Given the description of an element on the screen output the (x, y) to click on. 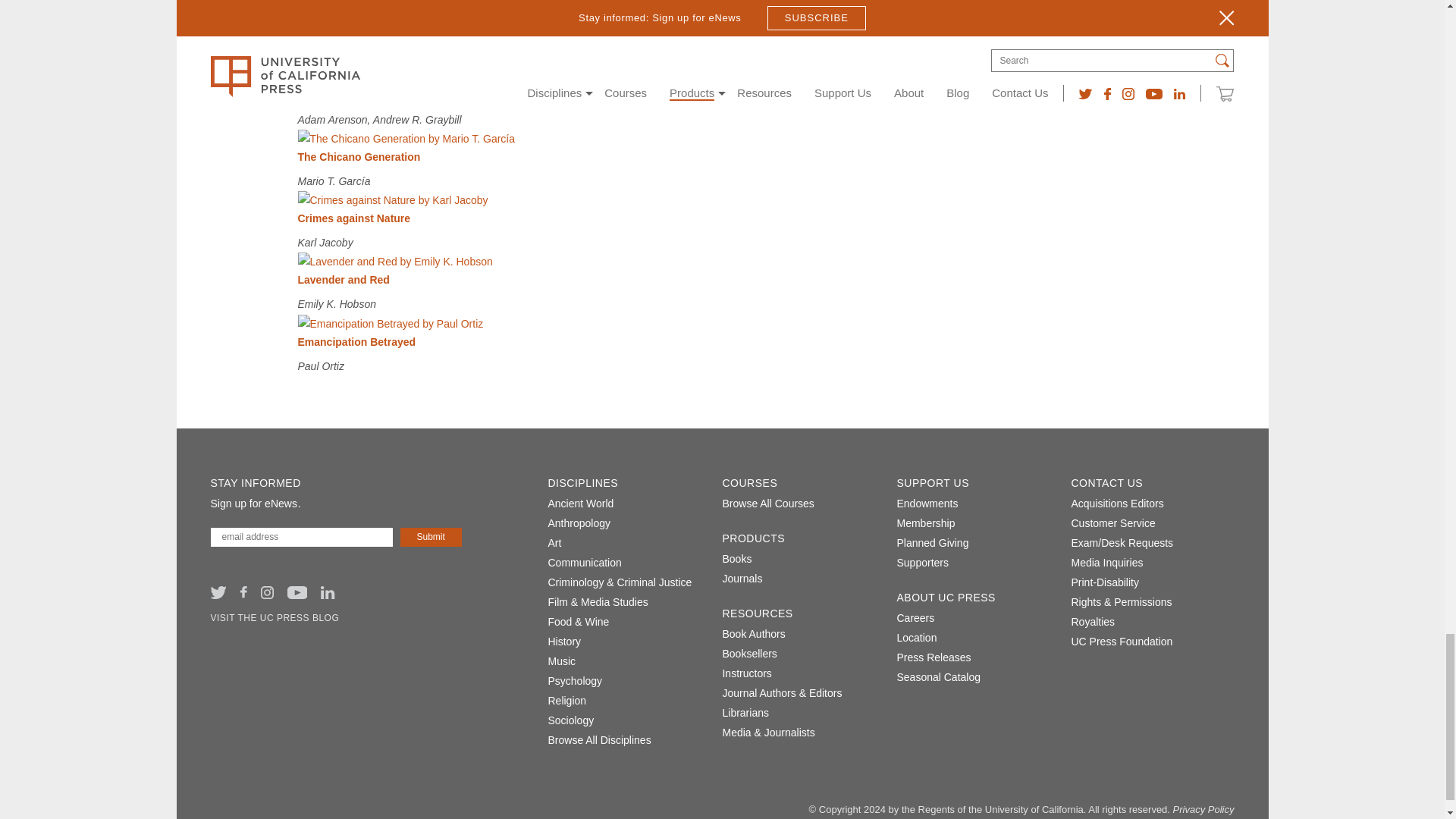
Submit (430, 537)
